Given the description of an element on the screen output the (x, y) to click on. 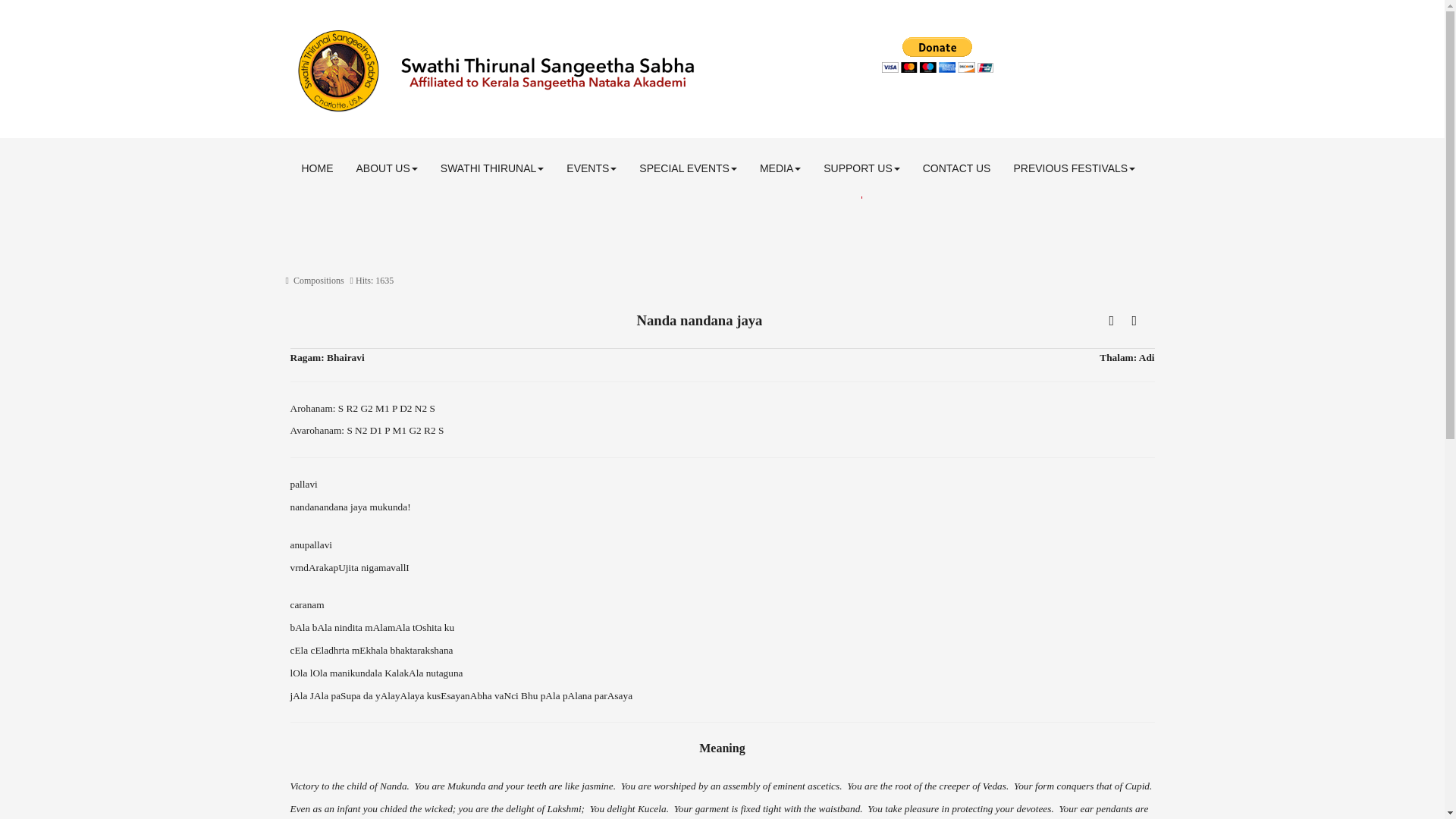
ABOUT US (385, 168)
Article Category (318, 280)
Swathi Thirunal Sangeetha Sabha (574, 70)
HOME (316, 168)
PayPal - The safer, easier way to pay online! (936, 54)
